Given the description of an element on the screen output the (x, y) to click on. 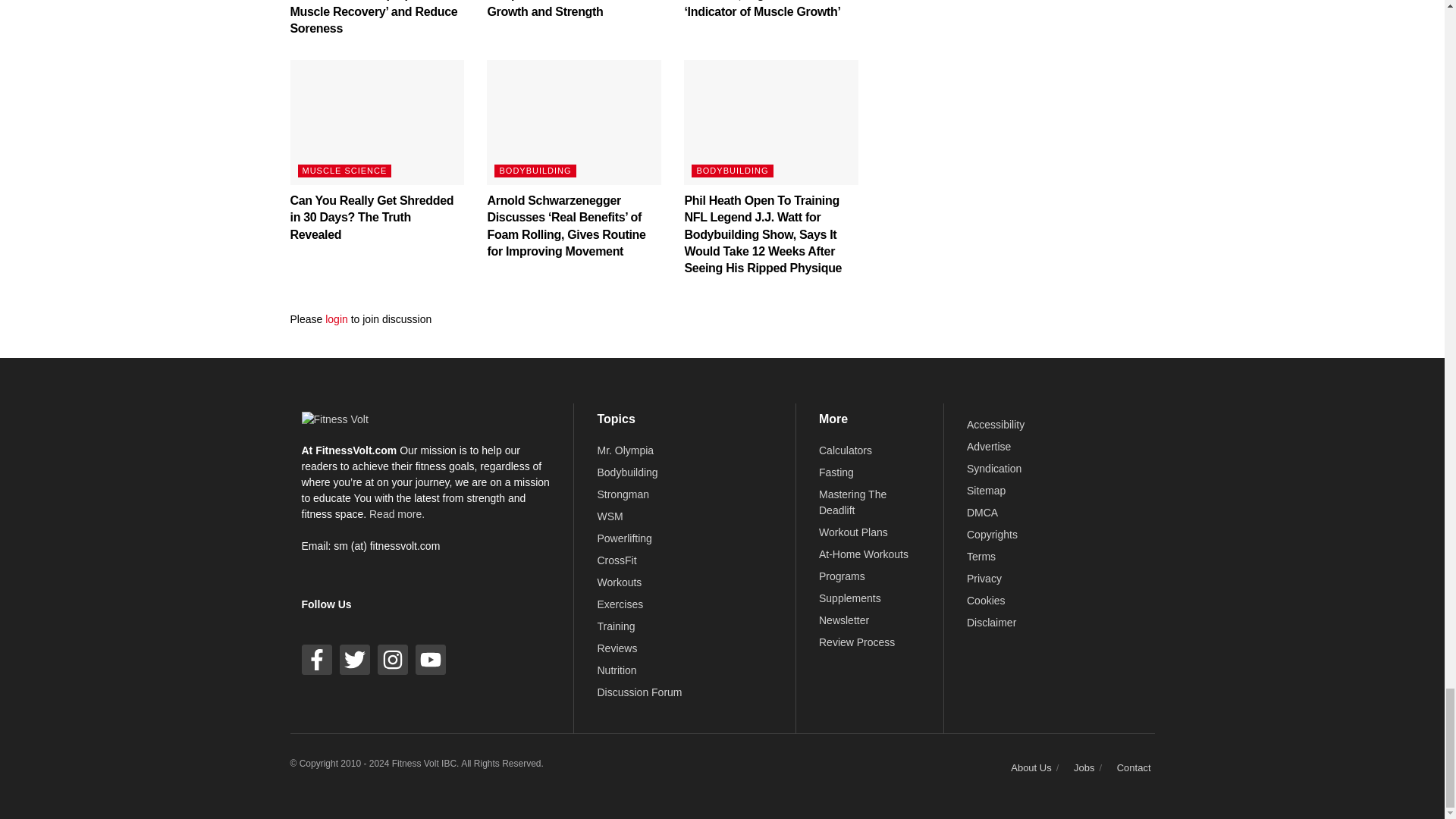
Accessibility Conformance Status (995, 424)
Read more about Fitness Volt (397, 513)
2019 Mr. Olympia News (624, 450)
